Given the description of an element on the screen output the (x, y) to click on. 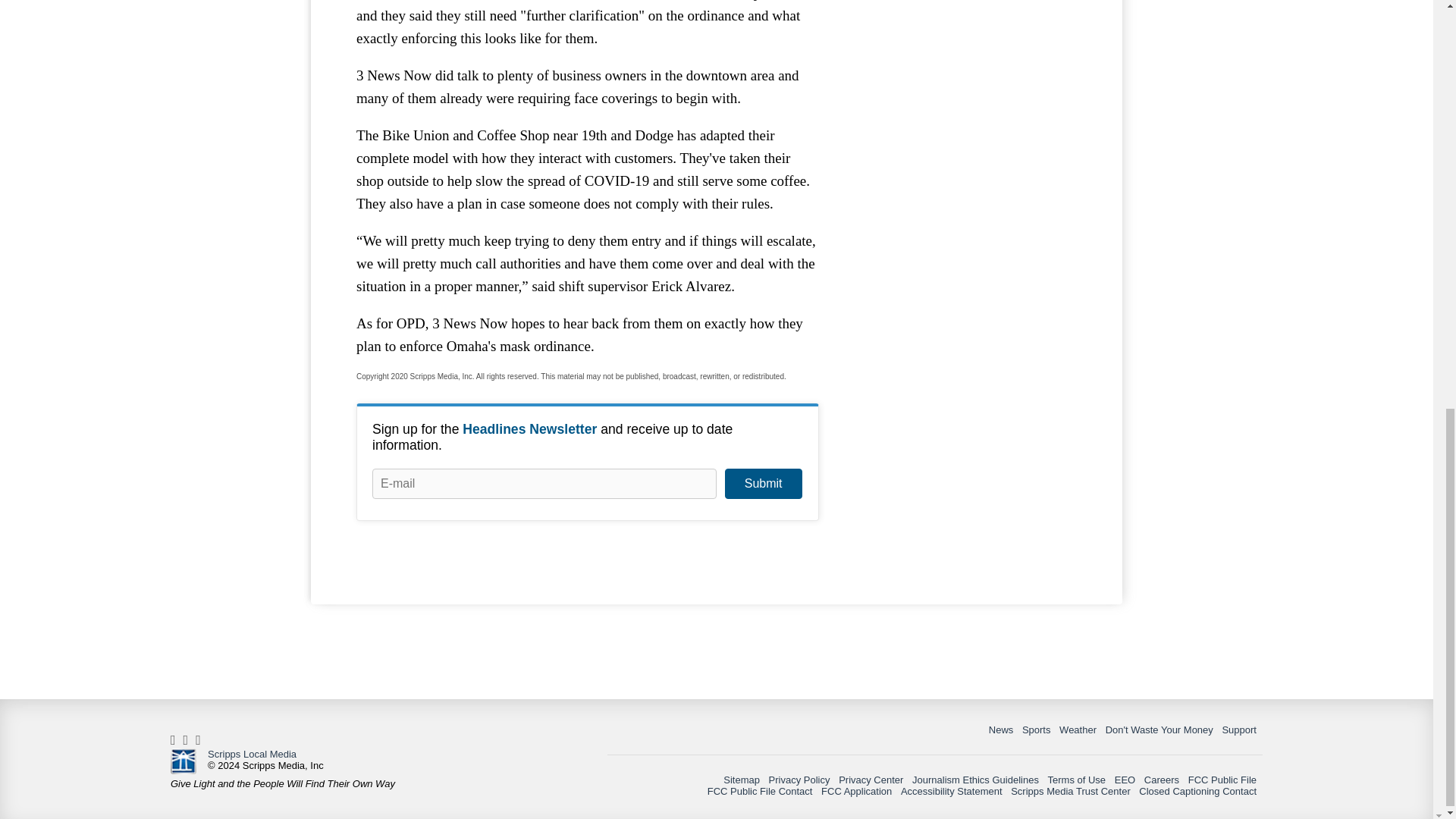
Submit (763, 483)
